Given the description of an element on the screen output the (x, y) to click on. 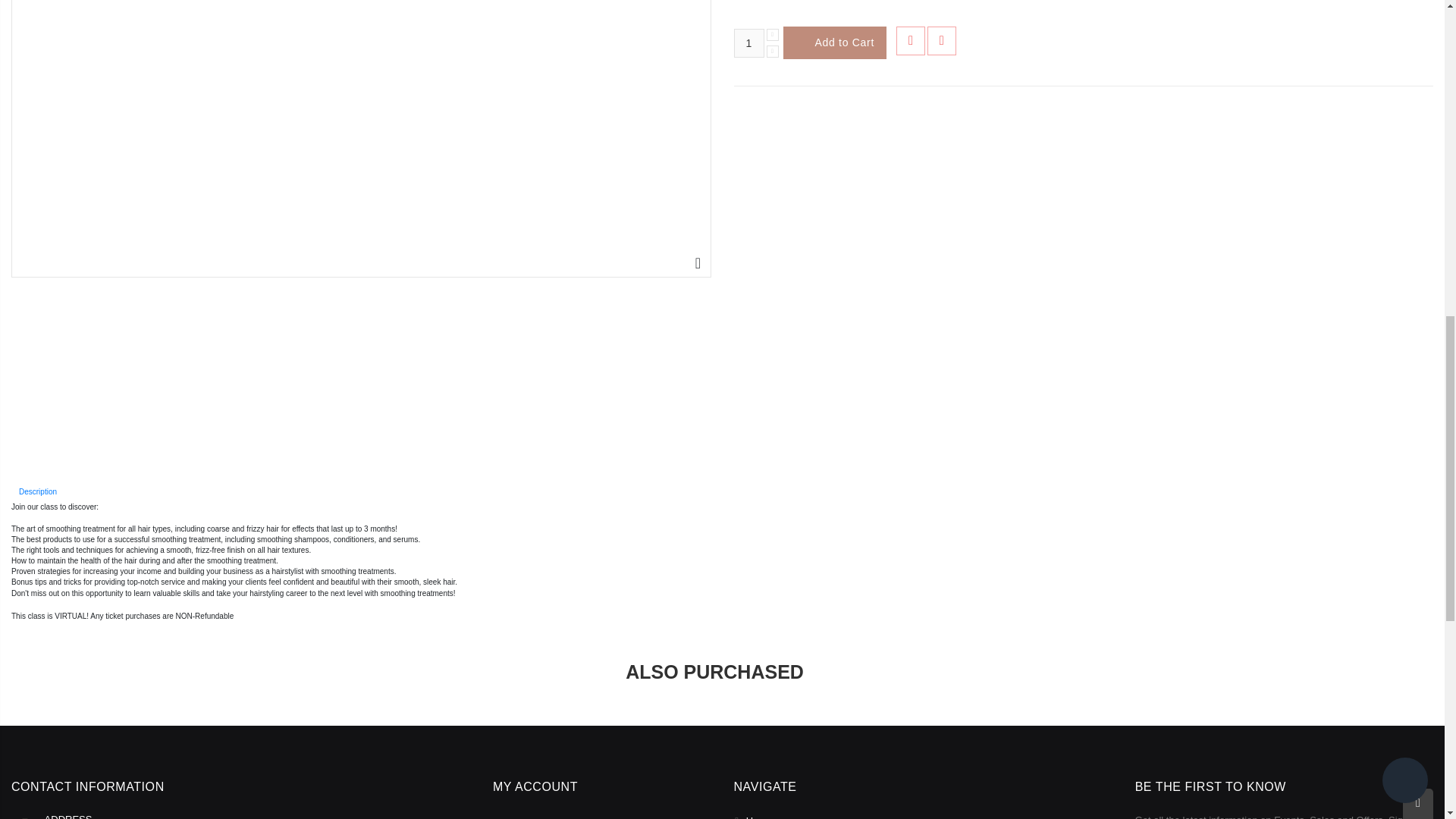
Description (37, 492)
Add to Cart (834, 42)
Add to wishlist (910, 40)
1 (748, 42)
Add to compare (941, 40)
